Given the description of an element on the screen output the (x, y) to click on. 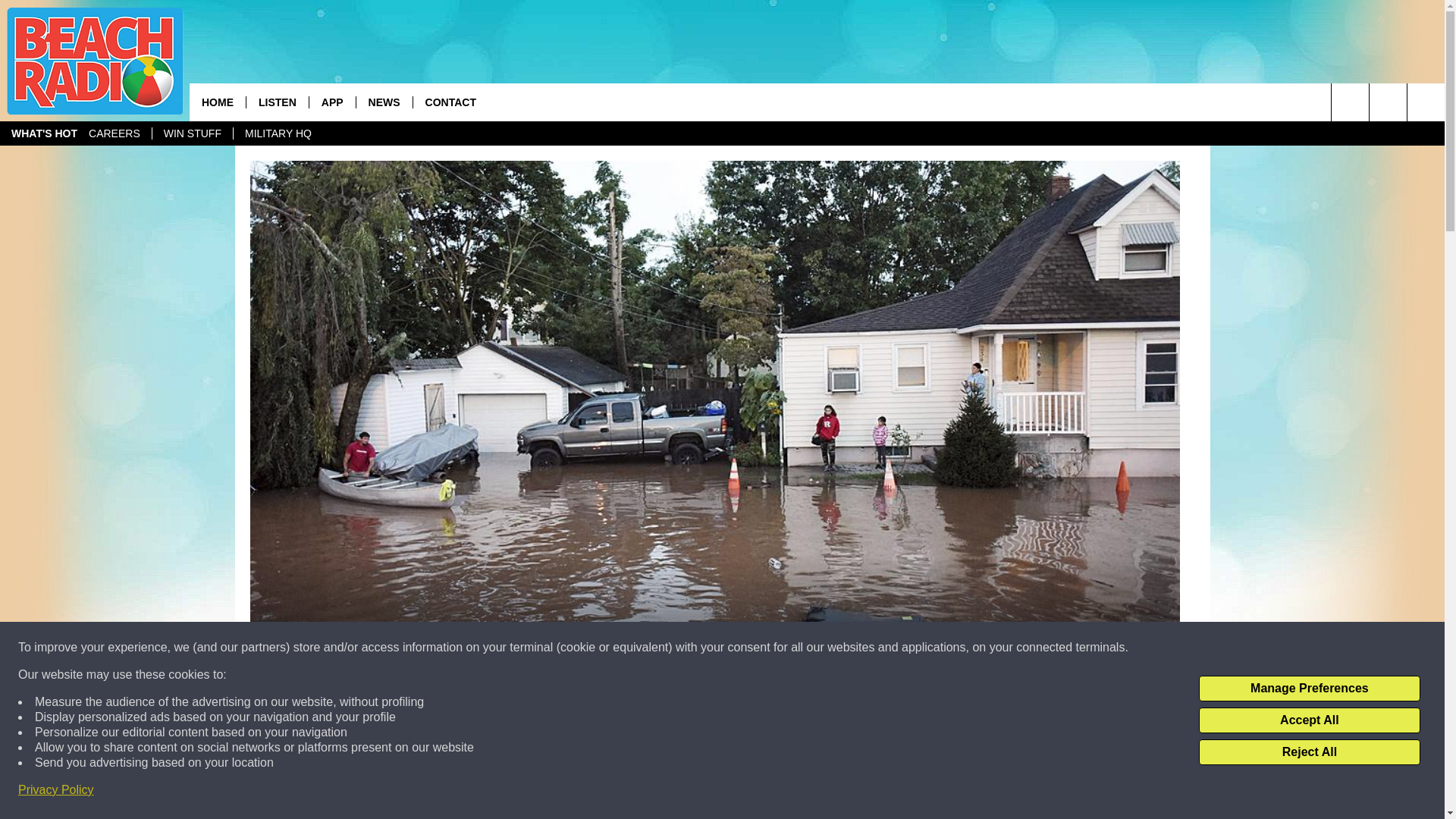
Share on Twitter (912, 791)
Reject All (1309, 751)
Share on Facebook (517, 791)
Accept All (1309, 720)
Manage Preferences (1309, 688)
CONTACT (449, 102)
CAREERS (114, 133)
Privacy Policy (55, 789)
HOME (217, 102)
WIN STUFF (191, 133)
MILITARY HQ (277, 133)
APP (331, 102)
NEWS (383, 102)
LISTEN (277, 102)
